Given the description of an element on the screen output the (x, y) to click on. 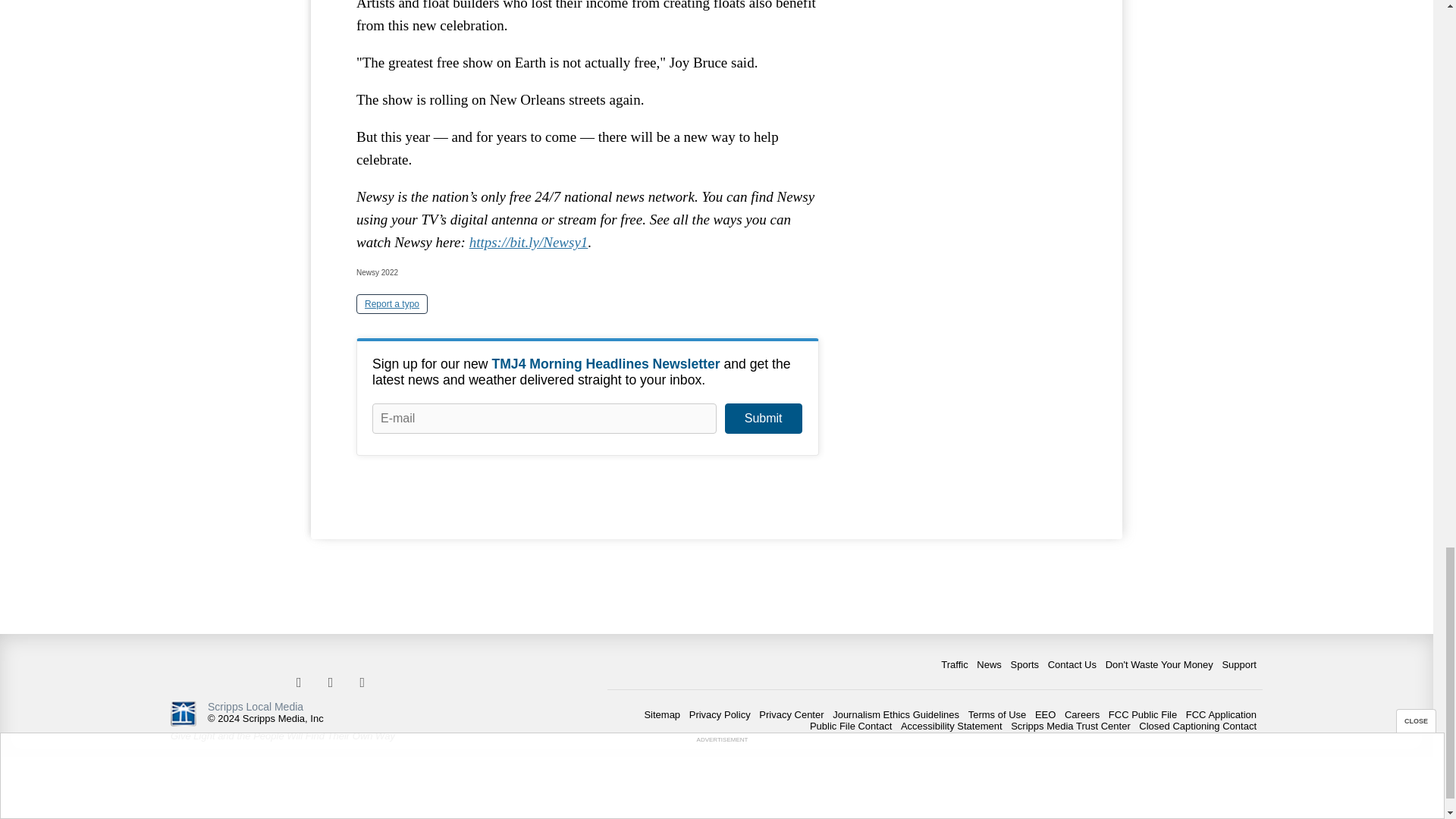
3rd party ad content (962, 105)
Submit (763, 418)
